Given the description of an element on the screen output the (x, y) to click on. 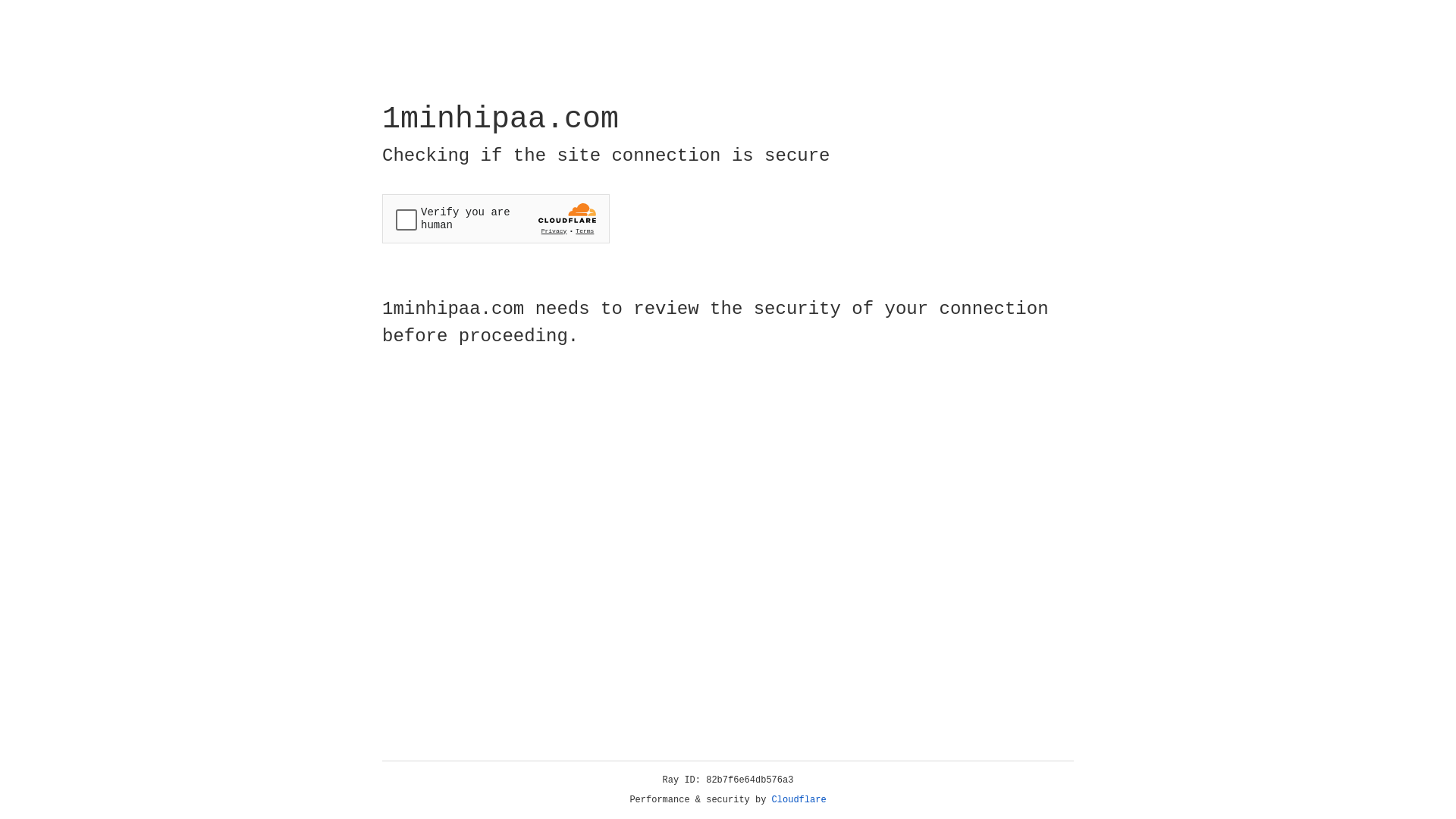
Widget containing a Cloudflare security challenge Element type: hover (495, 218)
Cloudflare Element type: text (798, 799)
